Given the description of an element on the screen output the (x, y) to click on. 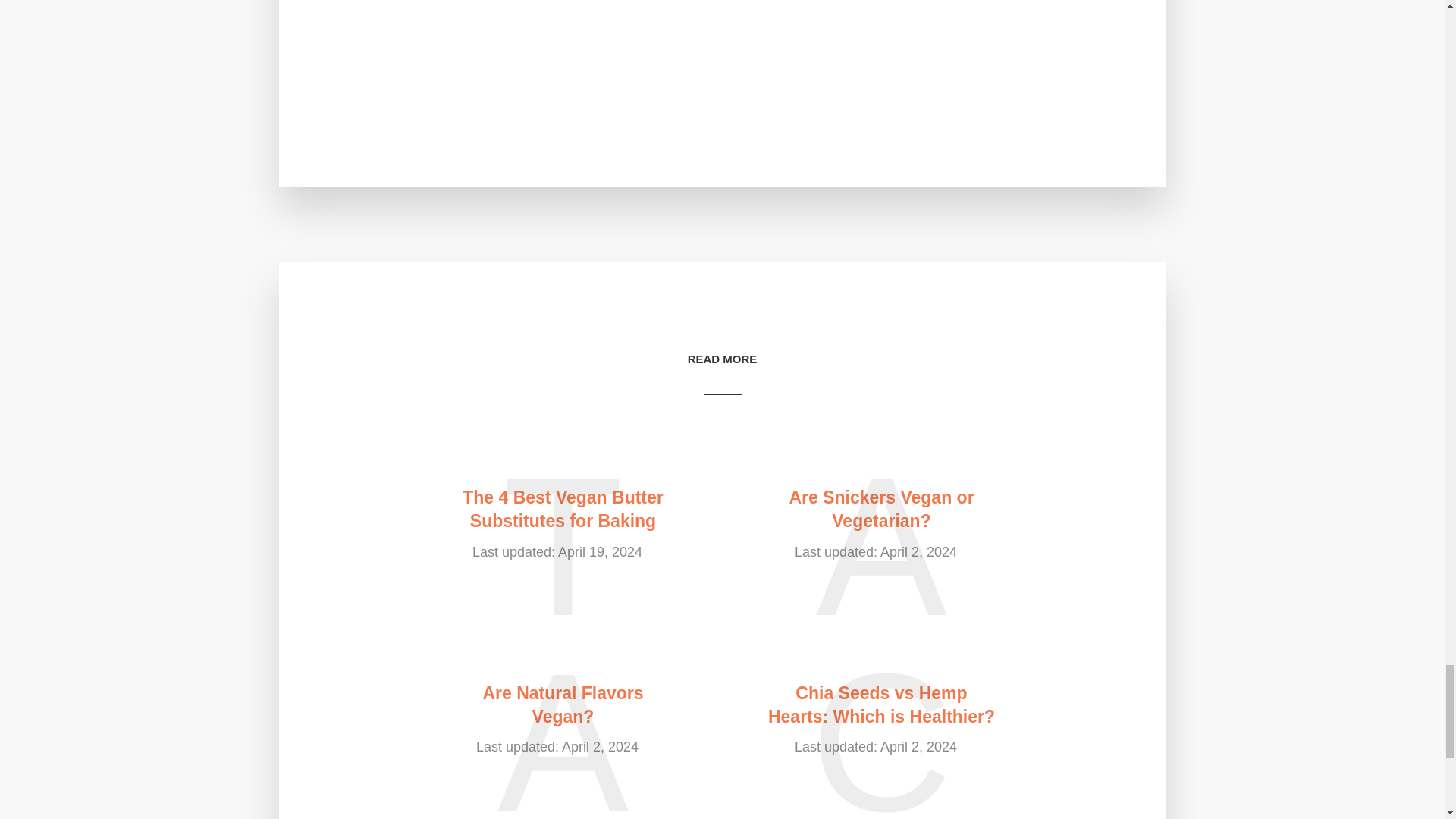
Are Snickers Vegan or Vegetarian? (880, 509)
Are Natural Flavors Vegan? (562, 704)
The 4 Best Vegan Butter Substitutes for Baking (562, 509)
Chia Seeds vs Hemp Hearts: Which is Healthier? (880, 704)
